Given the description of an element on the screen output the (x, y) to click on. 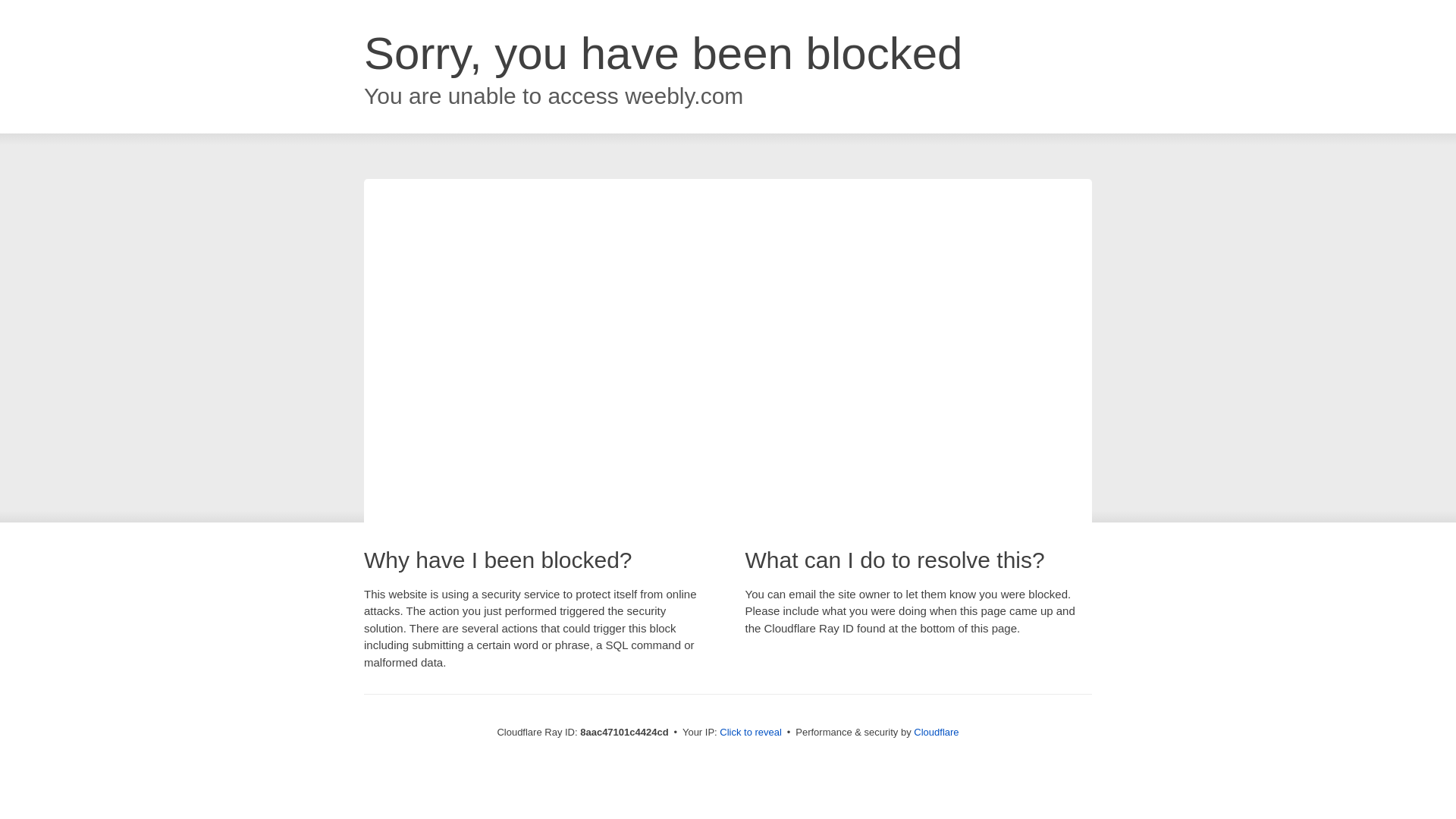
Click to reveal (750, 732)
Cloudflare (936, 731)
